Given the description of an element on the screen output the (x, y) to click on. 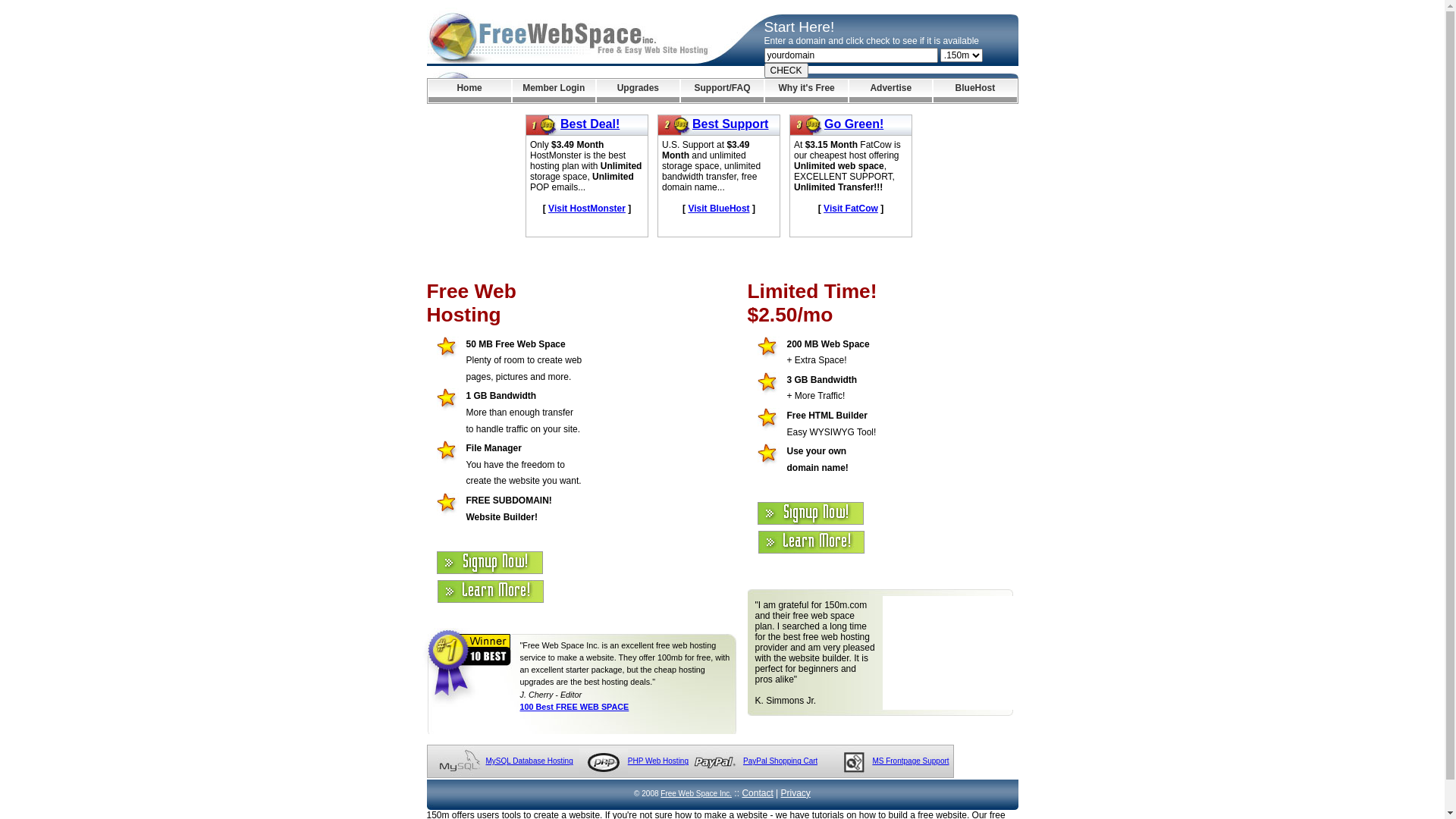
MySQL Database Hosting Element type: text (528, 760)
Privacy Element type: text (795, 792)
Home Element type: text (468, 90)
MS Frontpage Support Element type: text (910, 760)
Advertise Element type: text (890, 90)
Support/FAQ Element type: text (721, 90)
Free Web Space Inc. Element type: text (695, 793)
PHP Web Hosting Element type: text (657, 760)
PayPal Shopping Cart Element type: text (780, 760)
BlueHost Element type: text (974, 90)
Upgrades Element type: text (637, 90)
CHECK Element type: text (786, 70)
Member Login Element type: text (553, 90)
Contact Element type: text (756, 792)
100 Best FREE WEB SPACE Element type: text (574, 706)
Why it's Free Element type: text (806, 90)
